Given the description of an element on the screen output the (x, y) to click on. 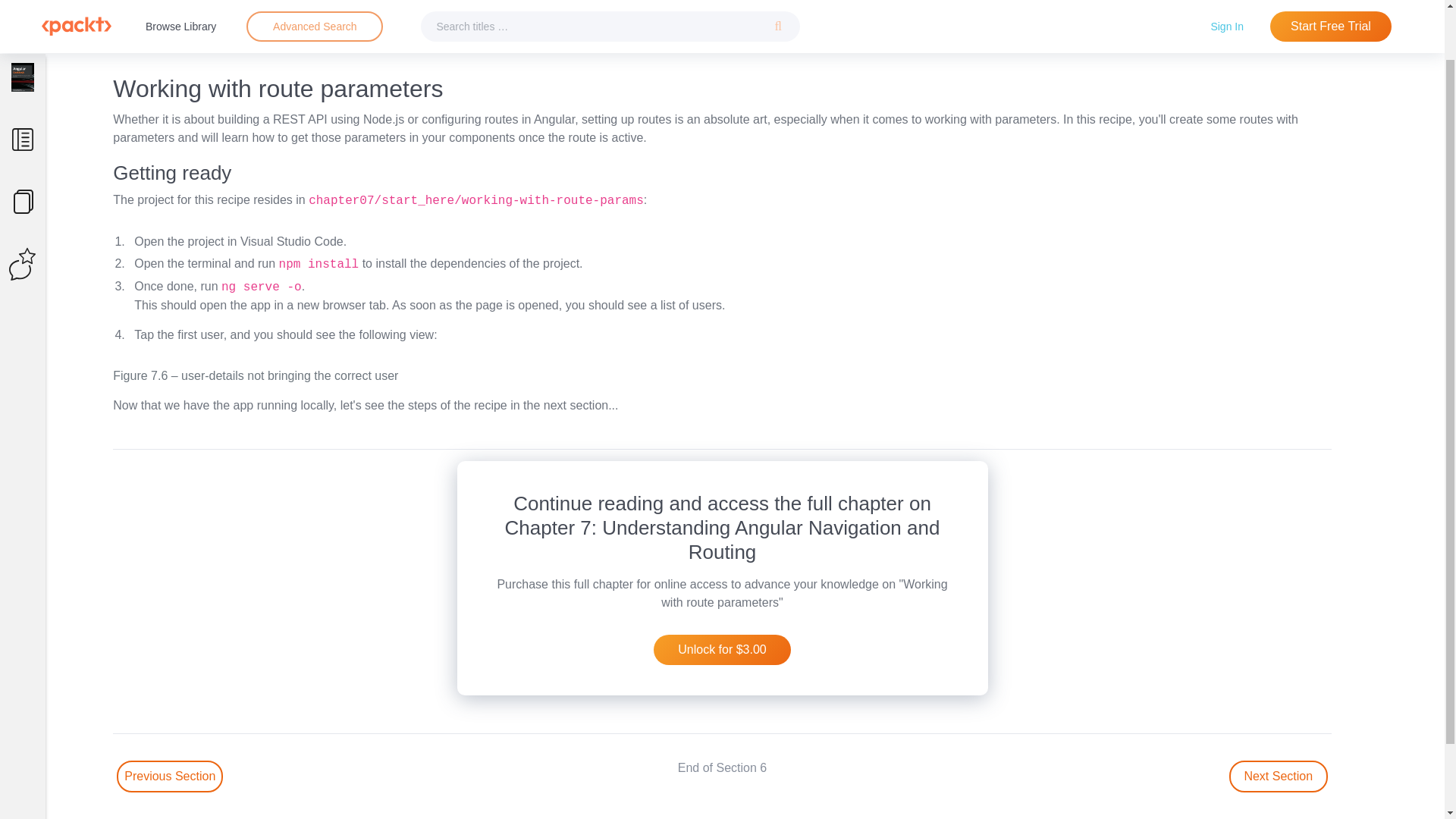
Go to Previous section (169, 776)
Go to next section (1277, 776)
